Given the description of an element on the screen output the (x, y) to click on. 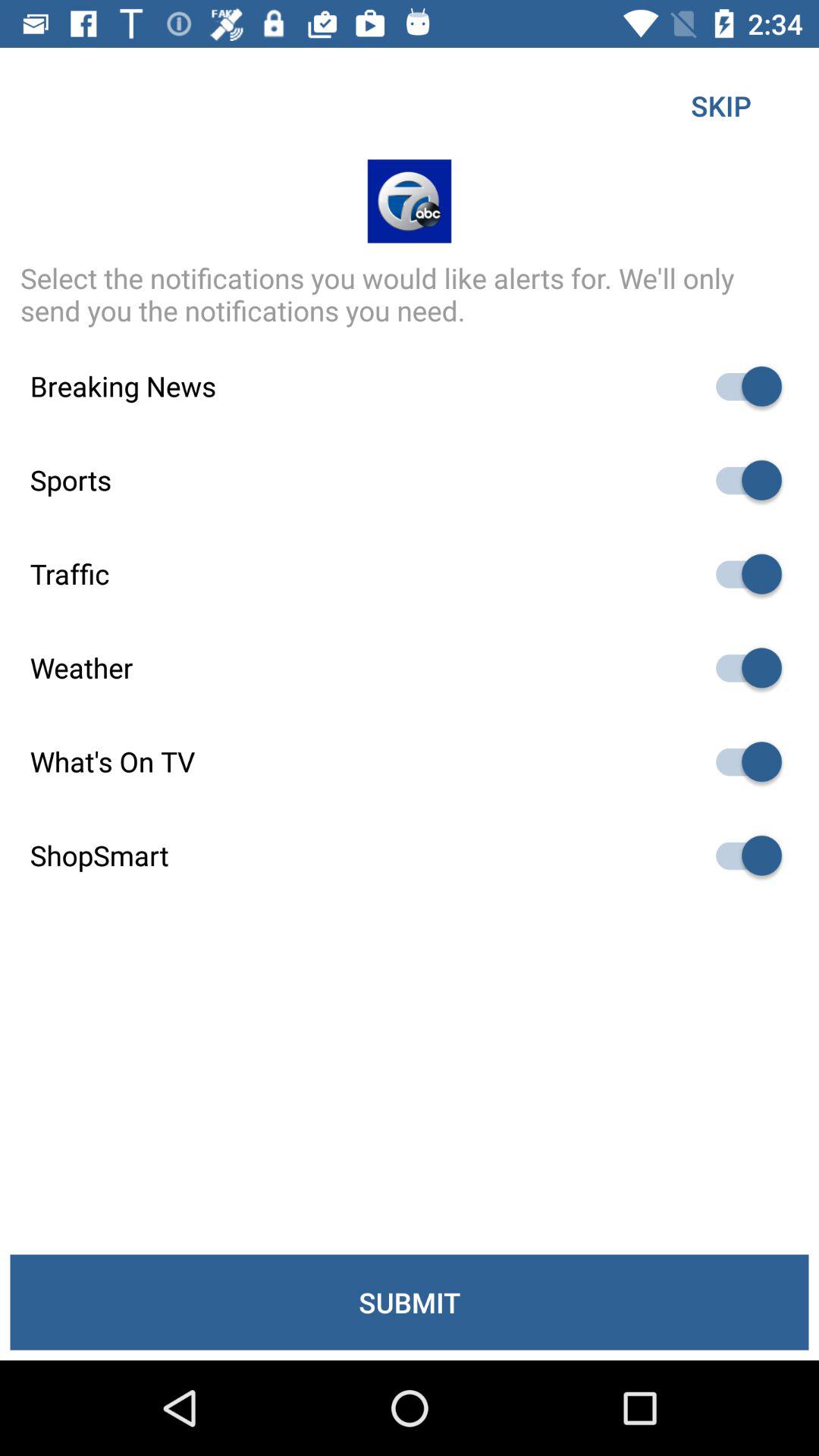
toggle what 's on tv (741, 761)
